Given the description of an element on the screen output the (x, y) to click on. 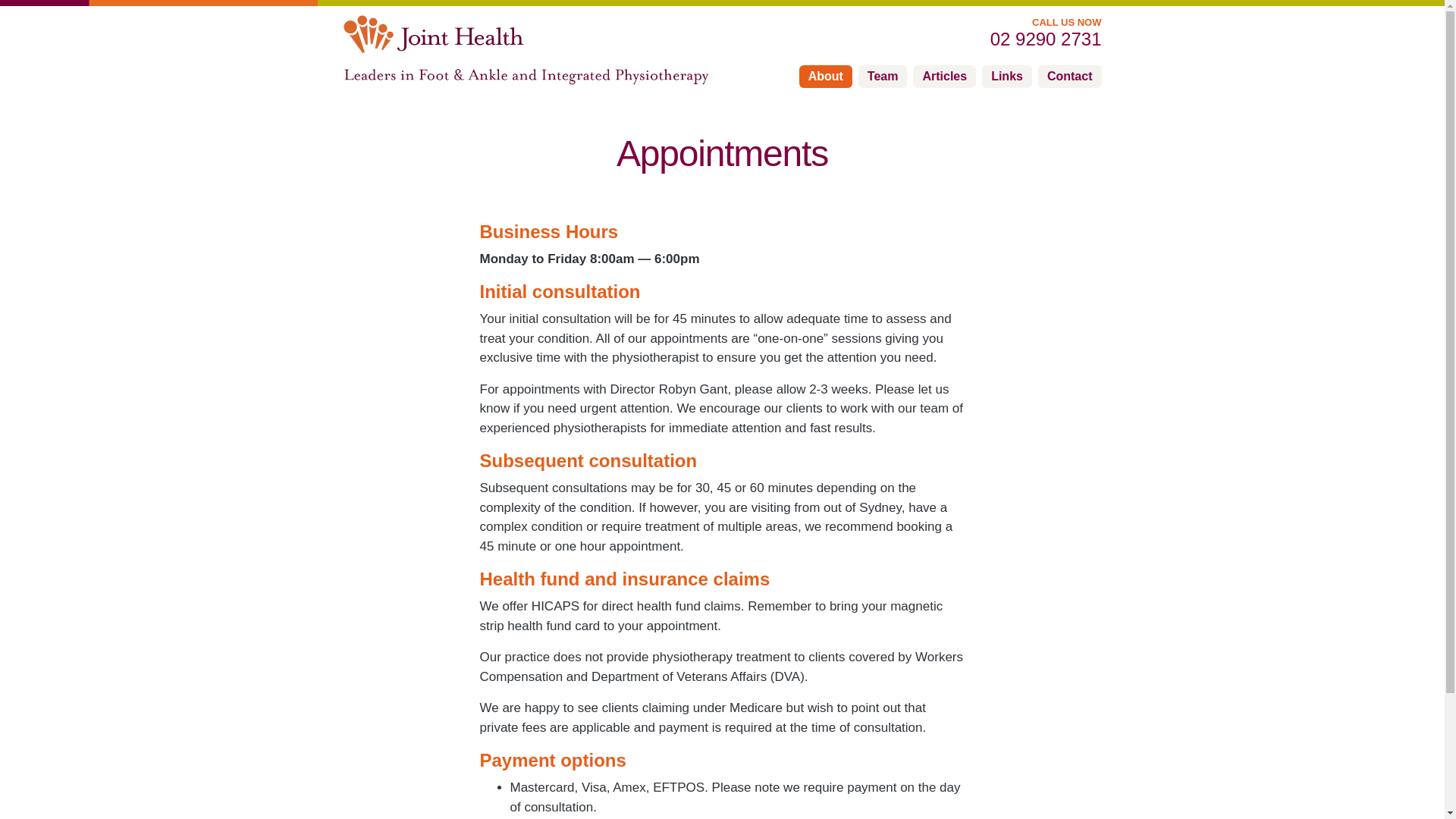
Links Element type: text (1007, 76)
About Element type: text (825, 76)
Team Element type: text (882, 76)
Contact Element type: text (1069, 76)
02 9290 2731 Element type: text (979, 39)
Joint Health Element type: text (432, 34)
Articles Element type: text (944, 76)
